Given the description of an element on the screen output the (x, y) to click on. 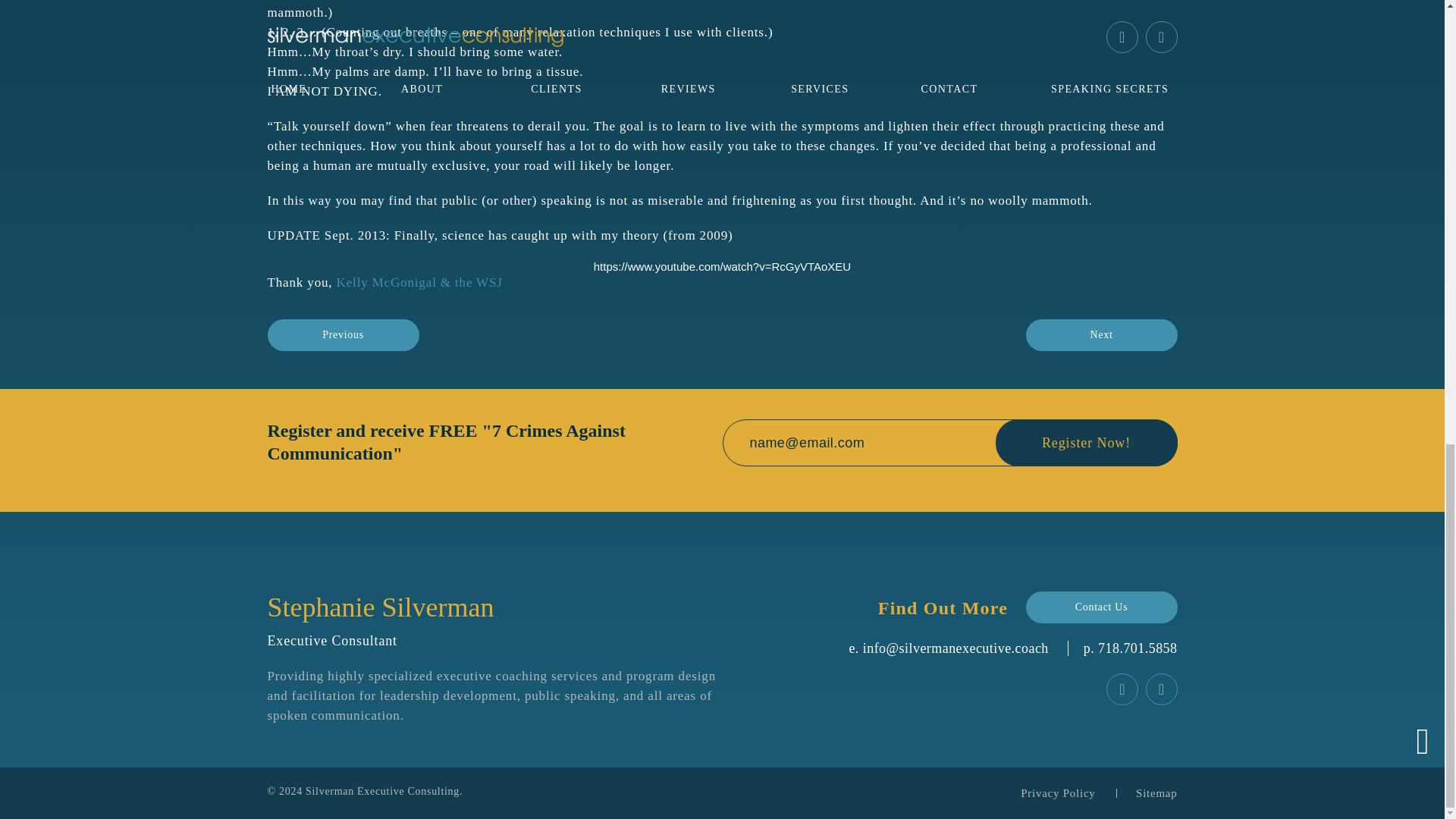
Silverman Executive Consulting (382, 790)
Contact Us (1100, 607)
718.701.5858 (1136, 648)
Previous (342, 333)
Privacy Policy (1057, 793)
Register Now! (1085, 442)
Sitemap (1155, 793)
Next (1100, 333)
